Given the description of an element on the screen output the (x, y) to click on. 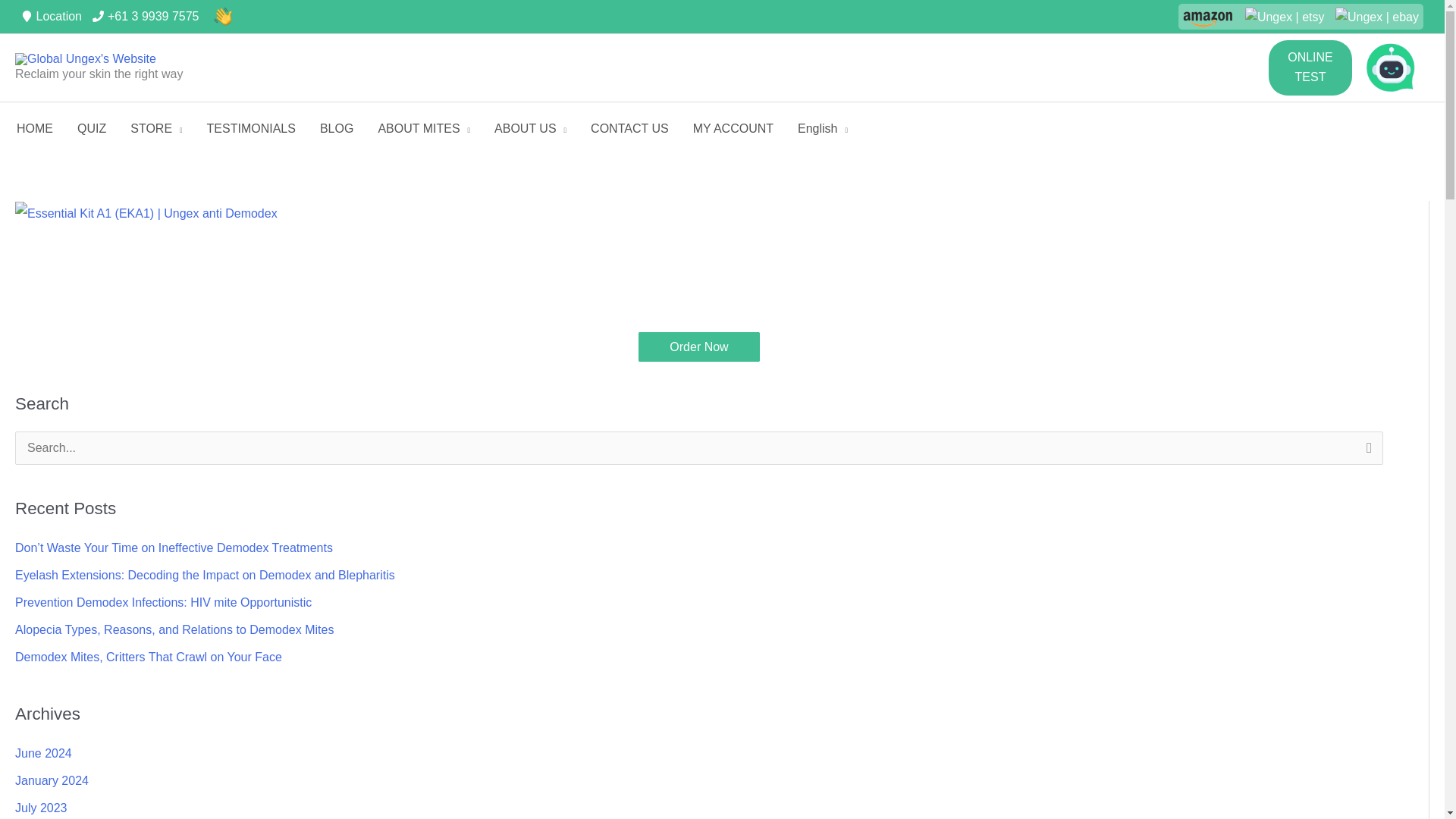
Location (54, 15)
English (823, 128)
